Given the description of an element on the screen output the (x, y) to click on. 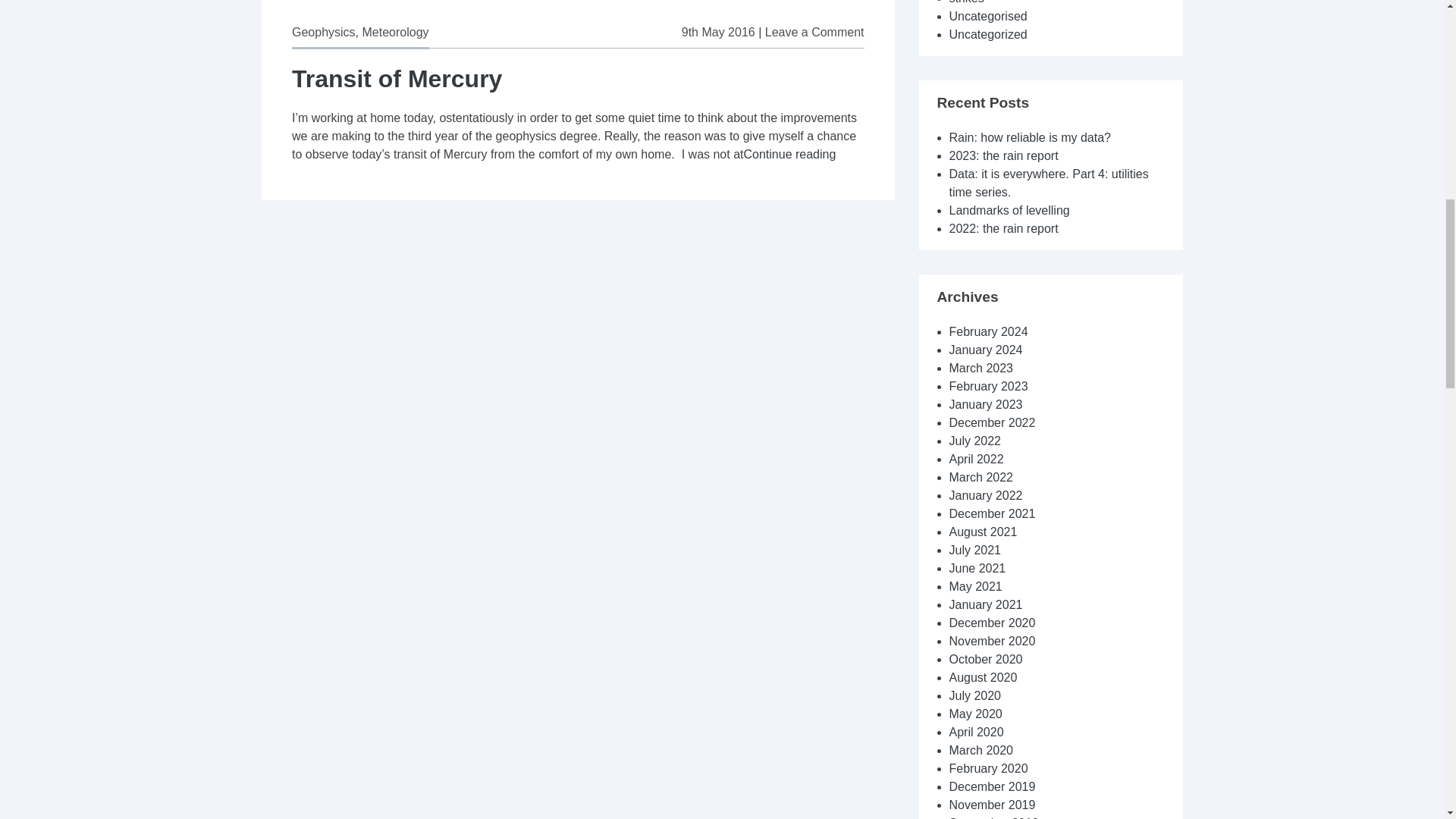
January 2024 (788, 154)
Landmarks of levelling (986, 349)
February 2024 (1009, 210)
Data: it is everywhere. Part 4: utilities time series. (988, 331)
Uncategorised (1048, 183)
Meteorology (988, 15)
Transit of Mercury (394, 31)
strikes (397, 78)
2022: the rain report (966, 2)
